Given the description of an element on the screen output the (x, y) to click on. 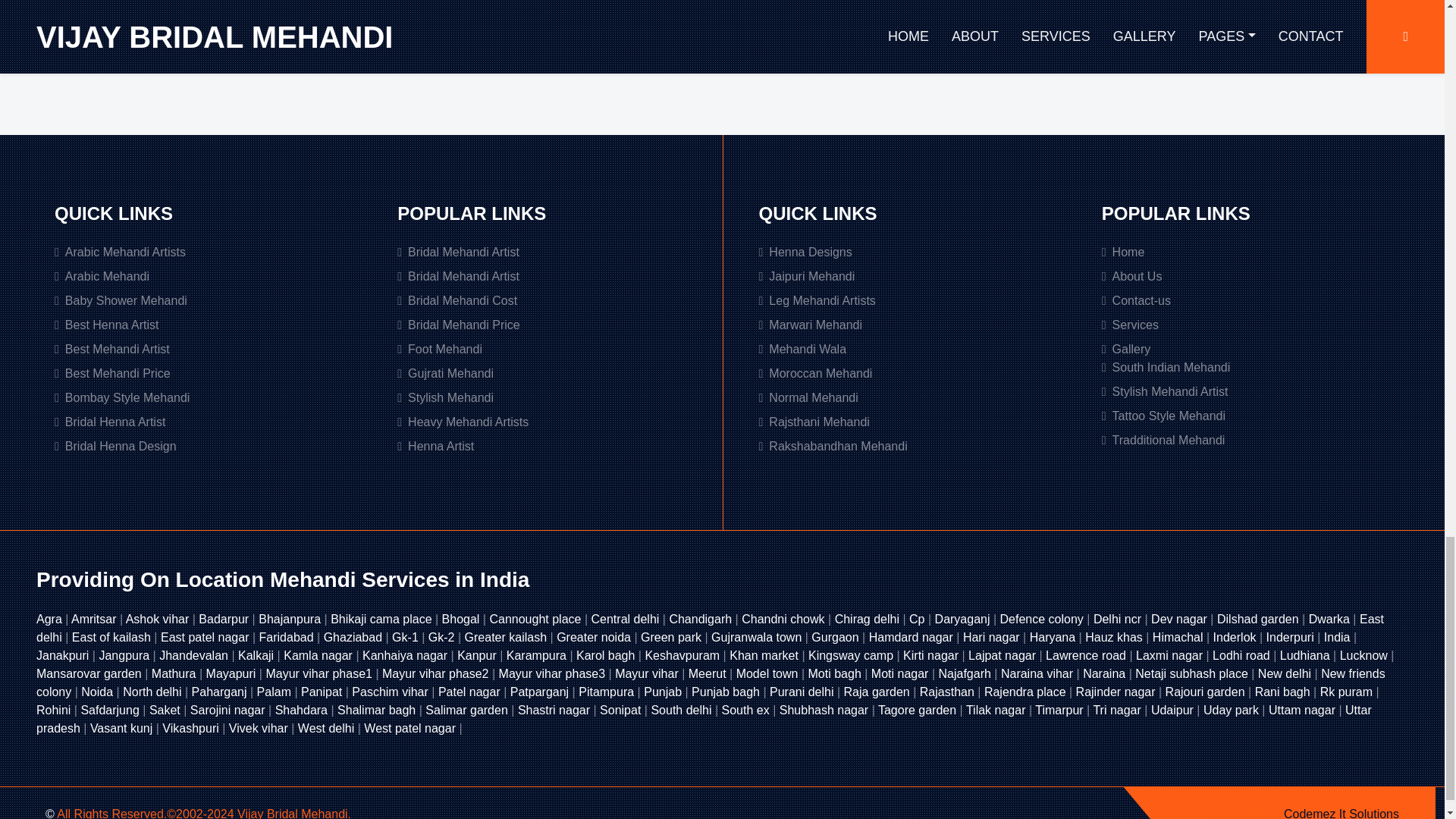
Bombay Style Mehandi (208, 398)
Best Mehandi Price (208, 373)
Bridal Mehandi Cost (550, 300)
Bridal Henna Design (208, 446)
wedding (252, 10)
Bridal Mehandi Artist (550, 276)
Stylish Mehandi (550, 398)
Bridal Mehandi Artist (550, 252)
Arabic Mehandi (208, 276)
Bridal Mehandi Price (550, 325)
Baby Shower Mehandi (208, 300)
Bridal Henna Artist (208, 422)
Best Mehandi Artist (208, 349)
Gujrati Mehandi (550, 373)
Foot Mehandi (550, 349)
